Given the description of an element on the screen output the (x, y) to click on. 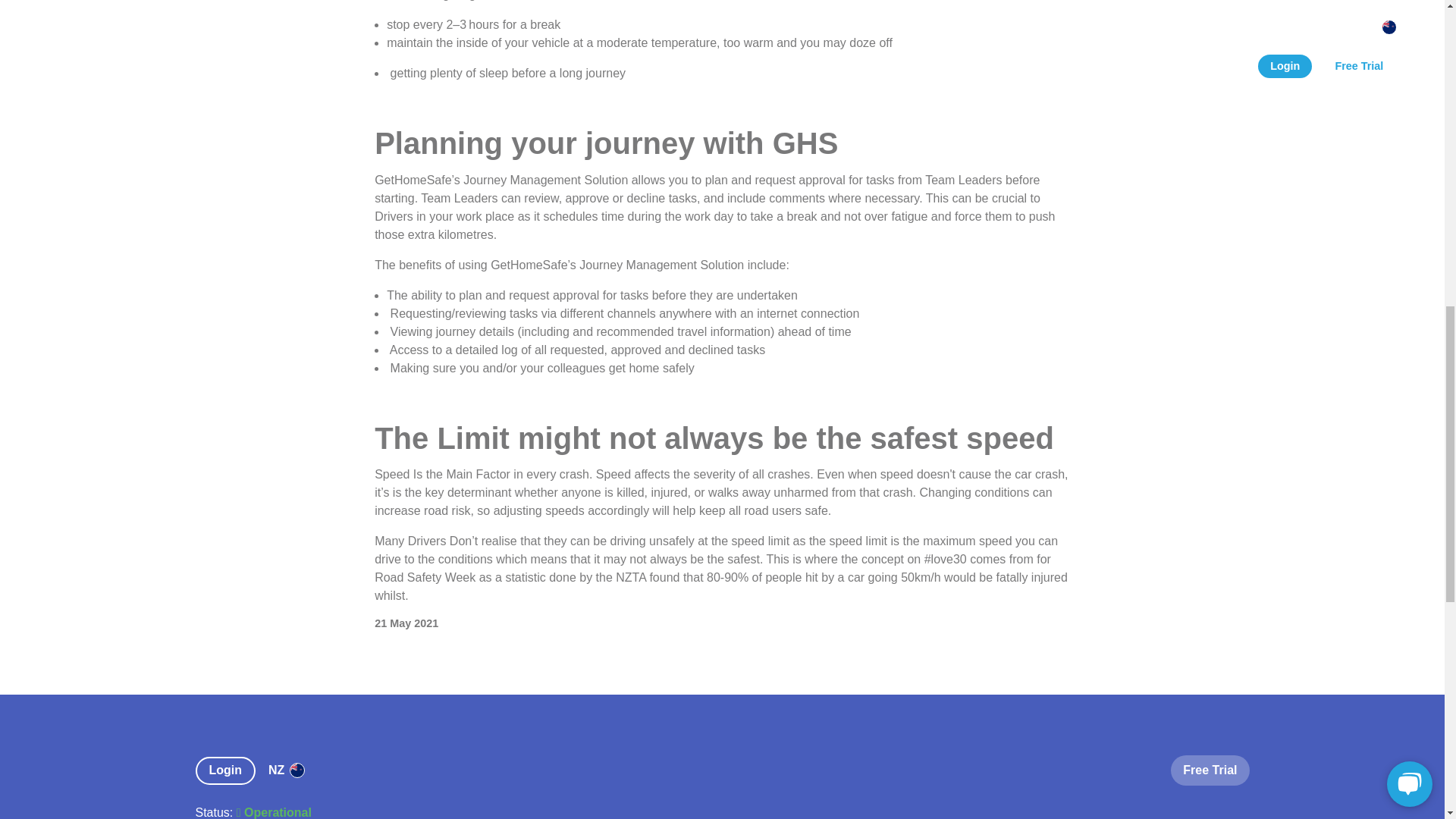
All systems are operational (273, 812)
Login (229, 770)
Free Trial (1209, 769)
Operational (273, 812)
